Given the description of an element on the screen output the (x, y) to click on. 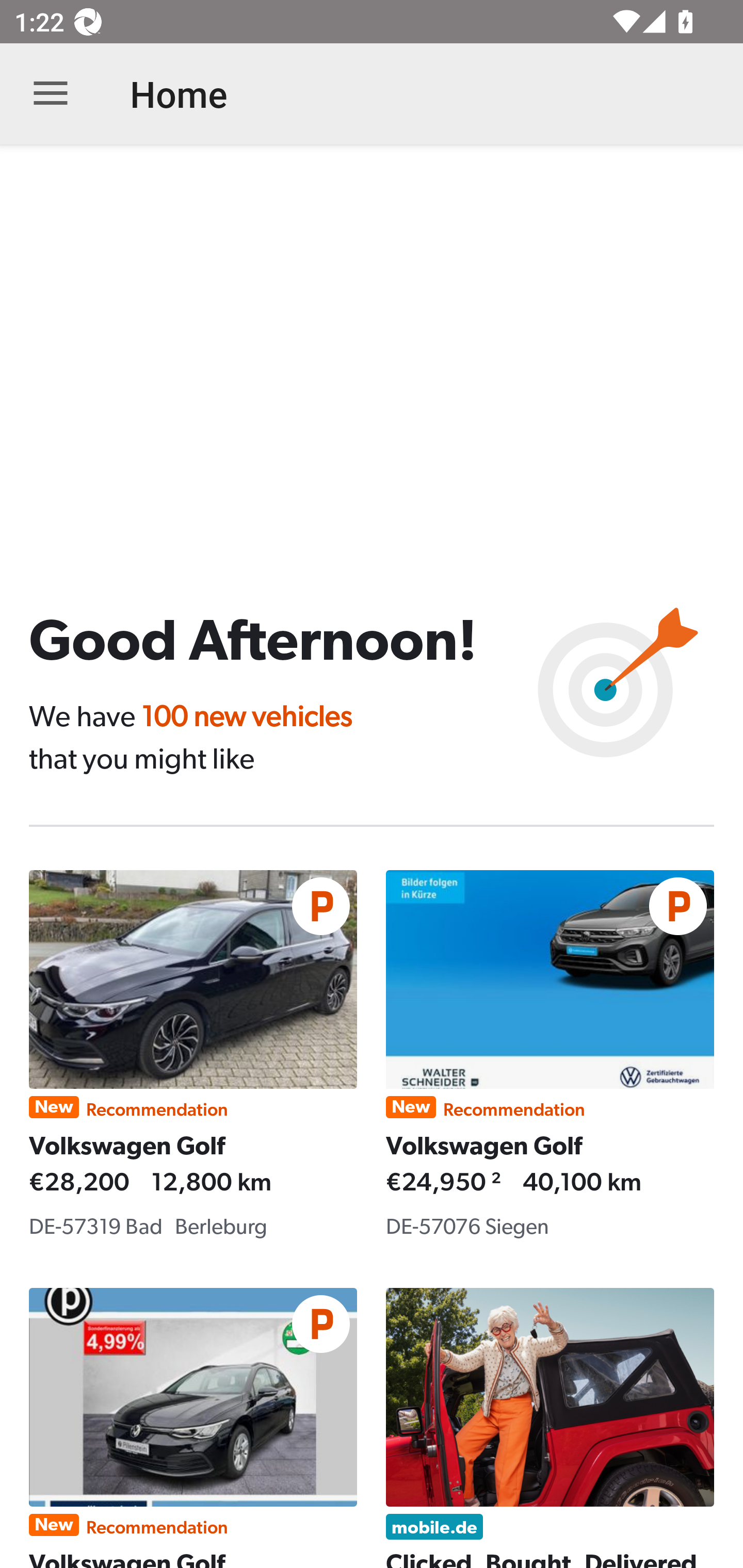
Open navigation bar (50, 93)
New Recommendation Volkswagen Golf (192, 1427)
mobile.de Clicked. Bought. Delivered. (549, 1427)
